Given the description of an element on the screen output the (x, y) to click on. 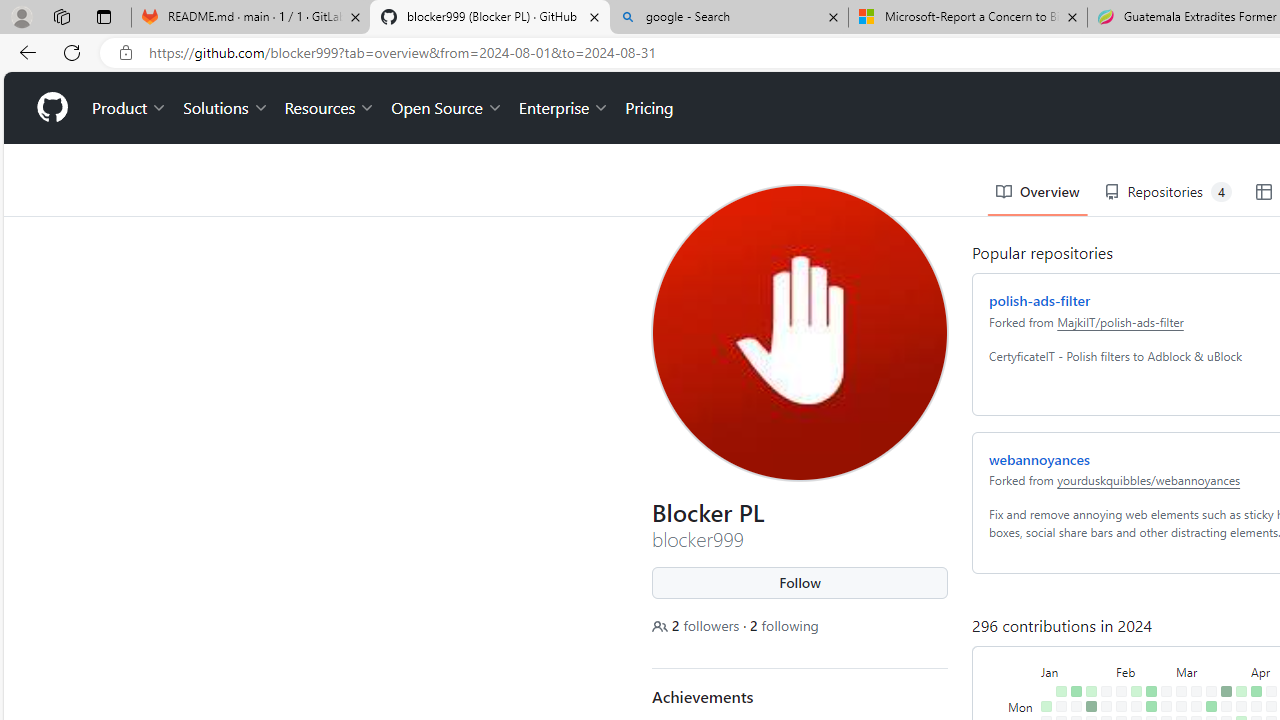
Wednesday (1017, 664)
No contributions on January 23rd. (1087, 649)
No contributions on January 16th. (1072, 649)
Resources (325, 35)
MajkiIT/polish-ads-filter (1116, 249)
No contributions on January 9th. (1057, 649)
No contributions on February 15th. (1131, 678)
No contributions on January 15th. (1072, 634)
Pricing (645, 35)
No contributions on January 25th. (1087, 678)
No contributions on February 20th. (1147, 649)
3 contributions on March 13th. (1192, 664)
2 following (780, 553)
